Given the description of an element on the screen output the (x, y) to click on. 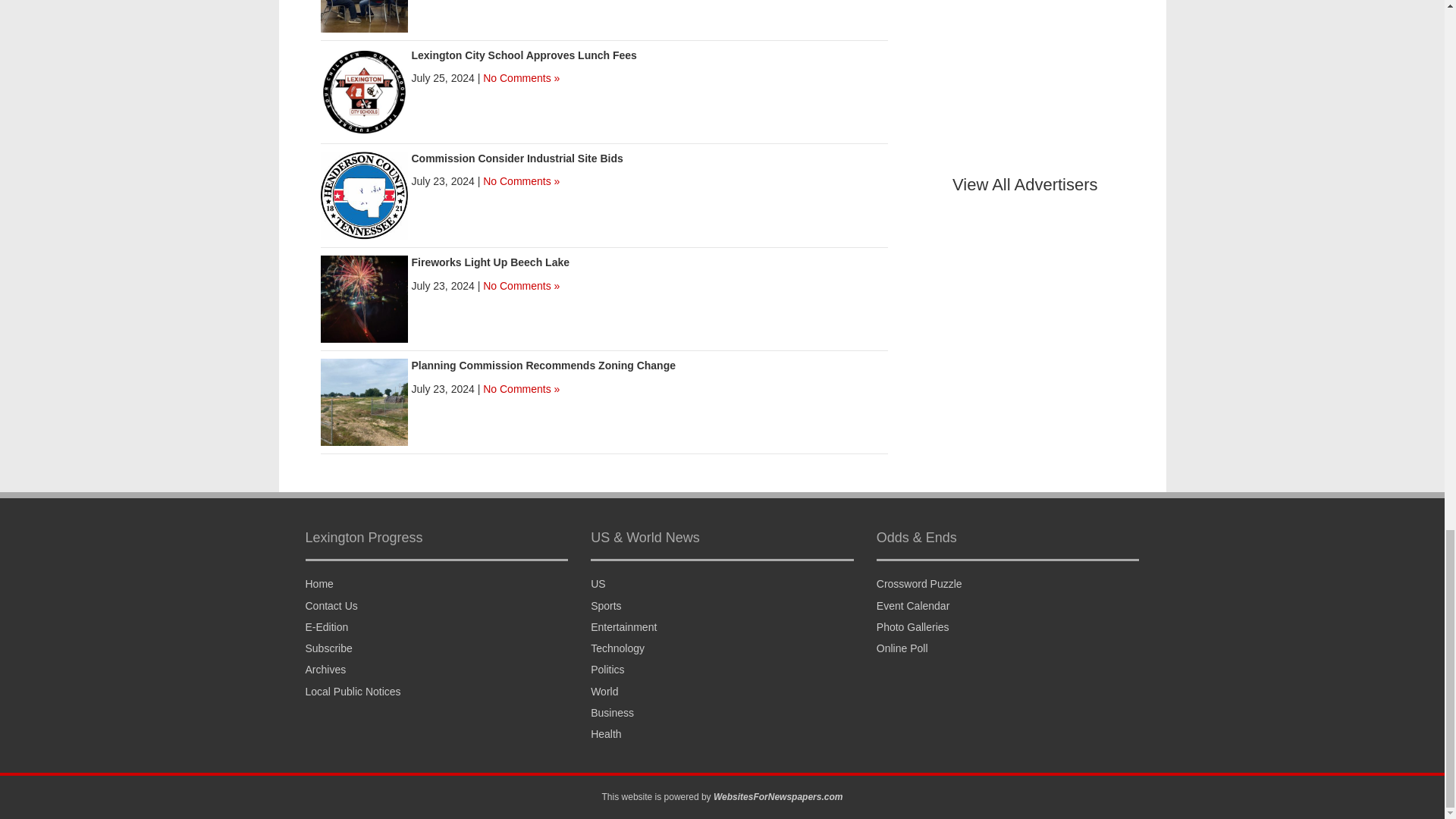
Planning Commission Recommends Zoning Change (542, 365)
Lexington City School Approves Lunch Fees (363, 91)
Fireworks Light Up Beech Lake (363, 297)
Commission Consider Industrial Site Bids (363, 194)
Planning Commission Recommends Zoning Change (363, 400)
Lexington City School Approves Lunch Fees (523, 55)
Fireworks Light Up Beech Lake (489, 262)
Commission Consider Industrial Site Bids (516, 158)
